Given the description of an element on the screen output the (x, y) to click on. 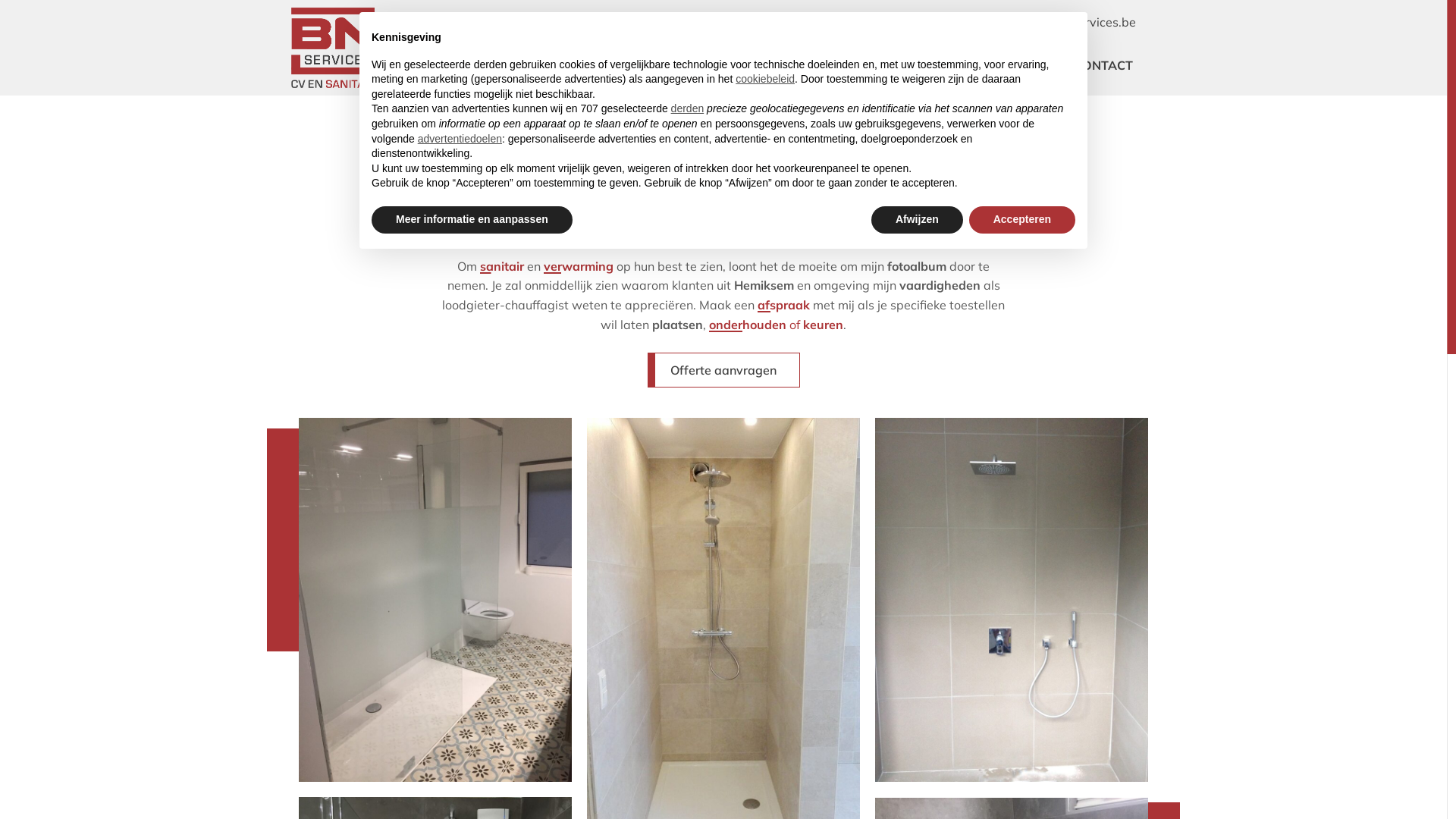
info@bnservices.be Element type: text (1072, 22)
REALISATIES Element type: text (985, 64)
Accepteren Element type: text (1022, 219)
OVER MIJ Element type: text (758, 64)
onderhouden of keuren Element type: text (776, 324)
Afwijzen Element type: text (917, 219)
0468 14 77 45 Element type: text (943, 22)
CONTACT Element type: text (1103, 64)
verwarming Element type: text (578, 265)
afspraak Element type: text (783, 304)
cookiebeleid Element type: text (764, 78)
sanitair Element type: text (502, 265)
derden Element type: text (687, 108)
HOME Element type: text (662, 64)
Meer informatie en aanpassen Element type: text (471, 219)
DIENSTEN Element type: text (866, 64)
advertentiedoelen Element type: text (459, 138)
Offerte aanvragen Element type: text (723, 369)
